Given the description of an element on the screen output the (x, y) to click on. 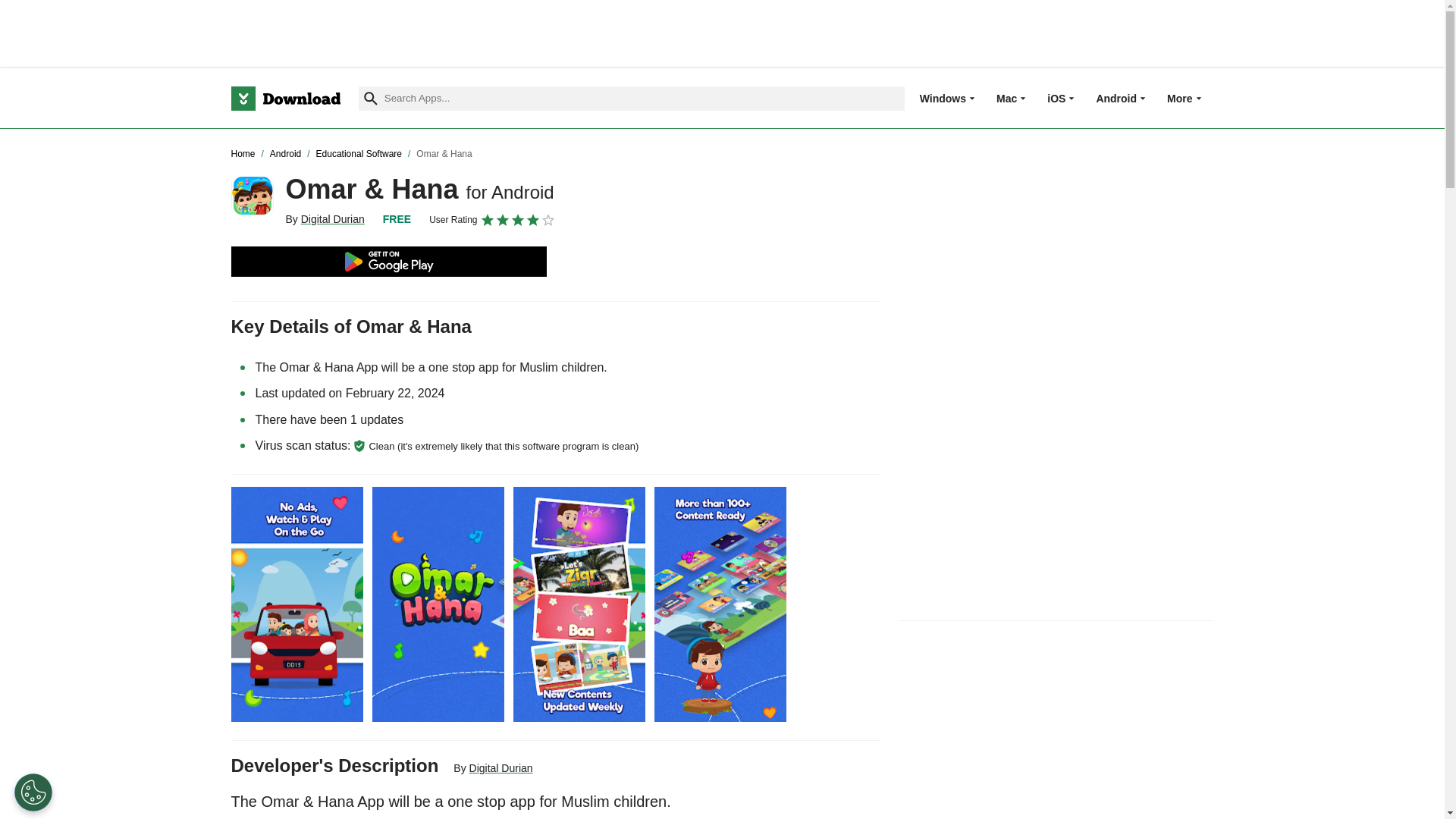
Get it on Google Play (388, 261)
Windows (943, 97)
Mac (1005, 97)
